Given the description of an element on the screen output the (x, y) to click on. 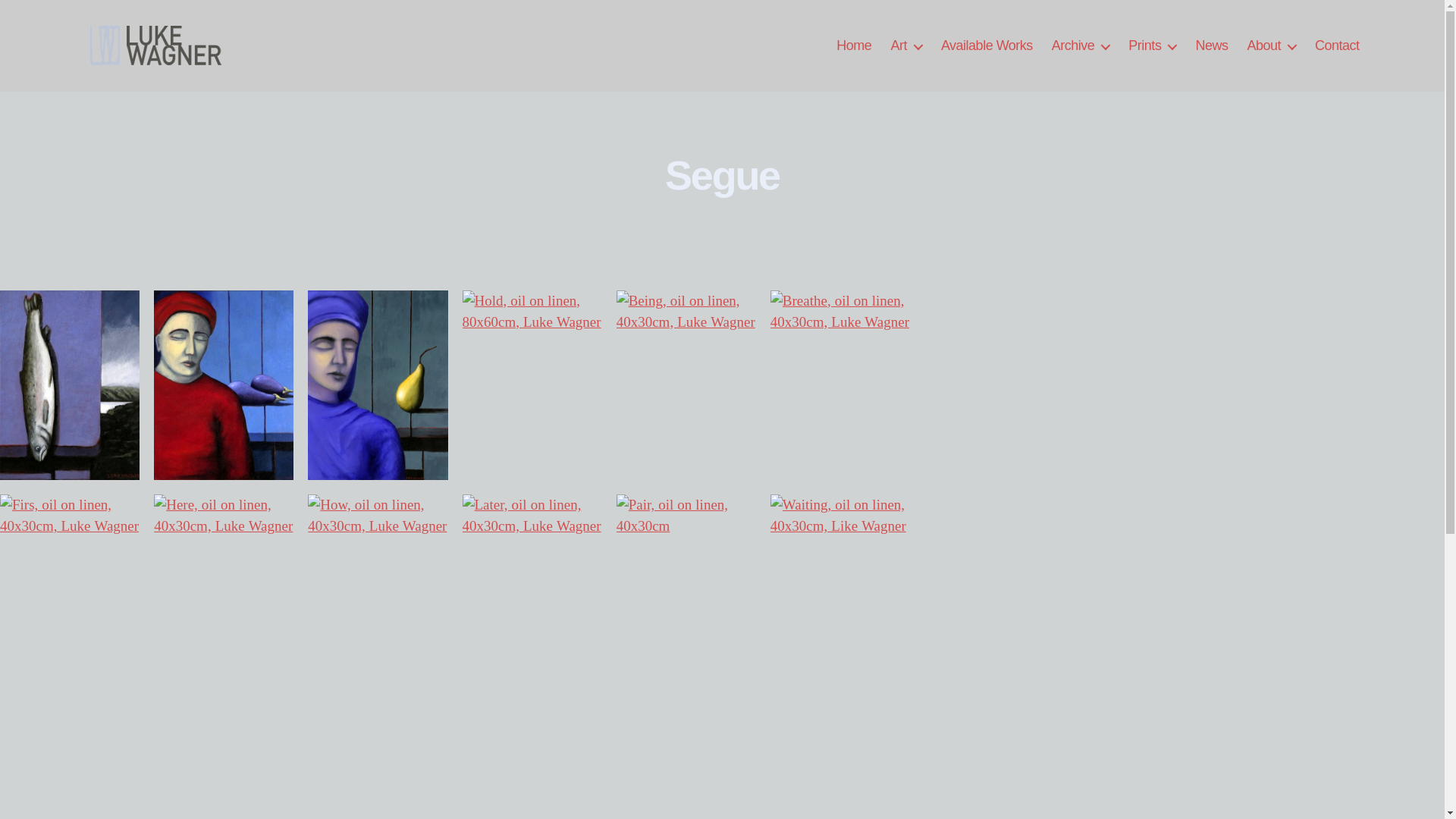
Available Works Element type: text (986, 45)
About Element type: text (1270, 45)
Art Element type: text (906, 45)
Archive Element type: text (1080, 45)
Home Element type: text (853, 45)
Prints Element type: text (1152, 45)
Contact Element type: text (1336, 45)
News Element type: text (1211, 45)
